Given the description of an element on the screen output the (x, y) to click on. 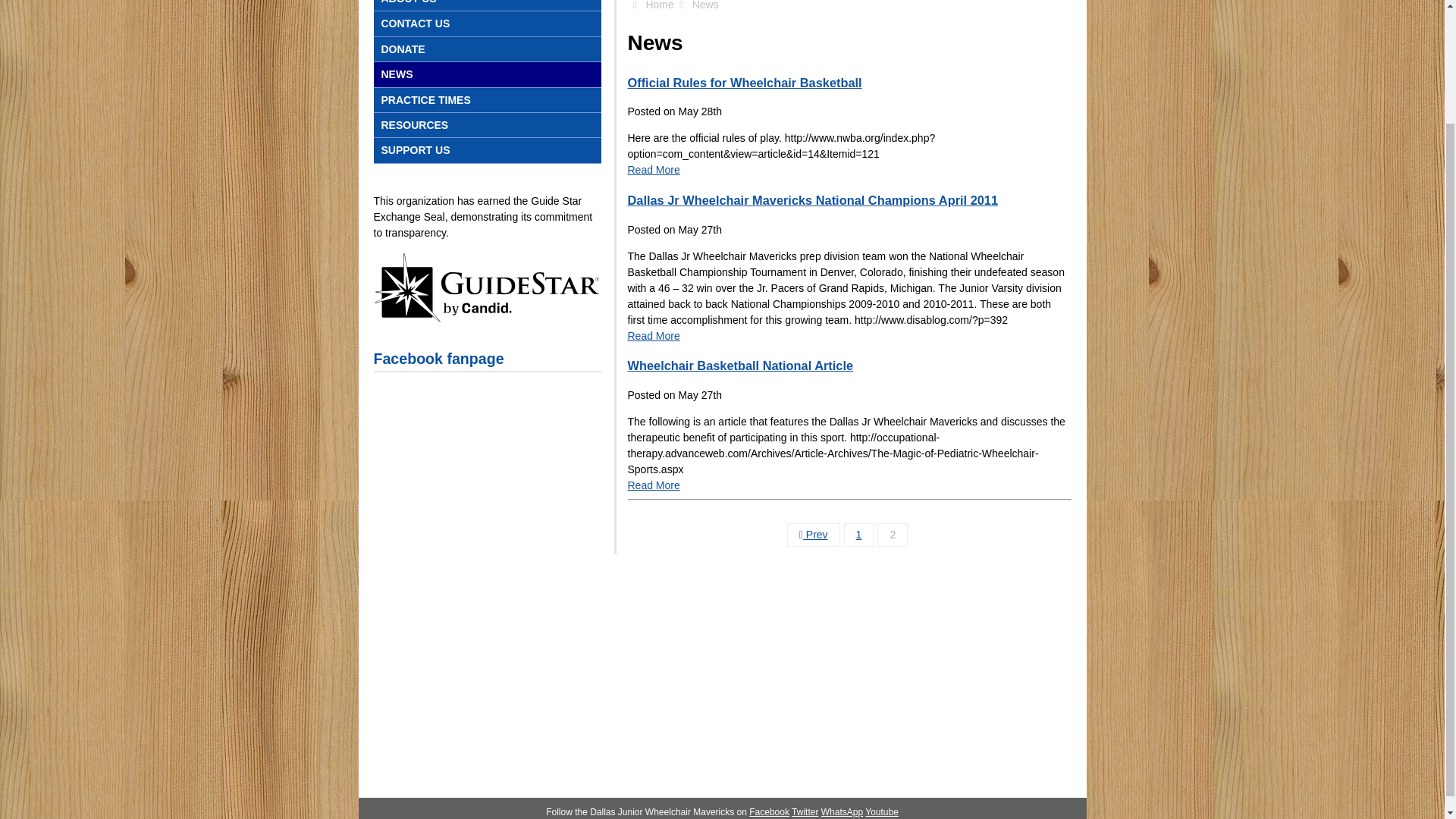
Twitter (805, 811)
WhatsApp (842, 811)
DONATE (485, 48)
Official Rules for Wheelchair Basketball (744, 82)
Read More (653, 485)
CONTACT US (485, 23)
1 (858, 535)
Official Rules for Wheelchair Basketball (653, 169)
News (706, 5)
Official Rules for Wheelchair Basketball (744, 82)
